Given the description of an element on the screen output the (x, y) to click on. 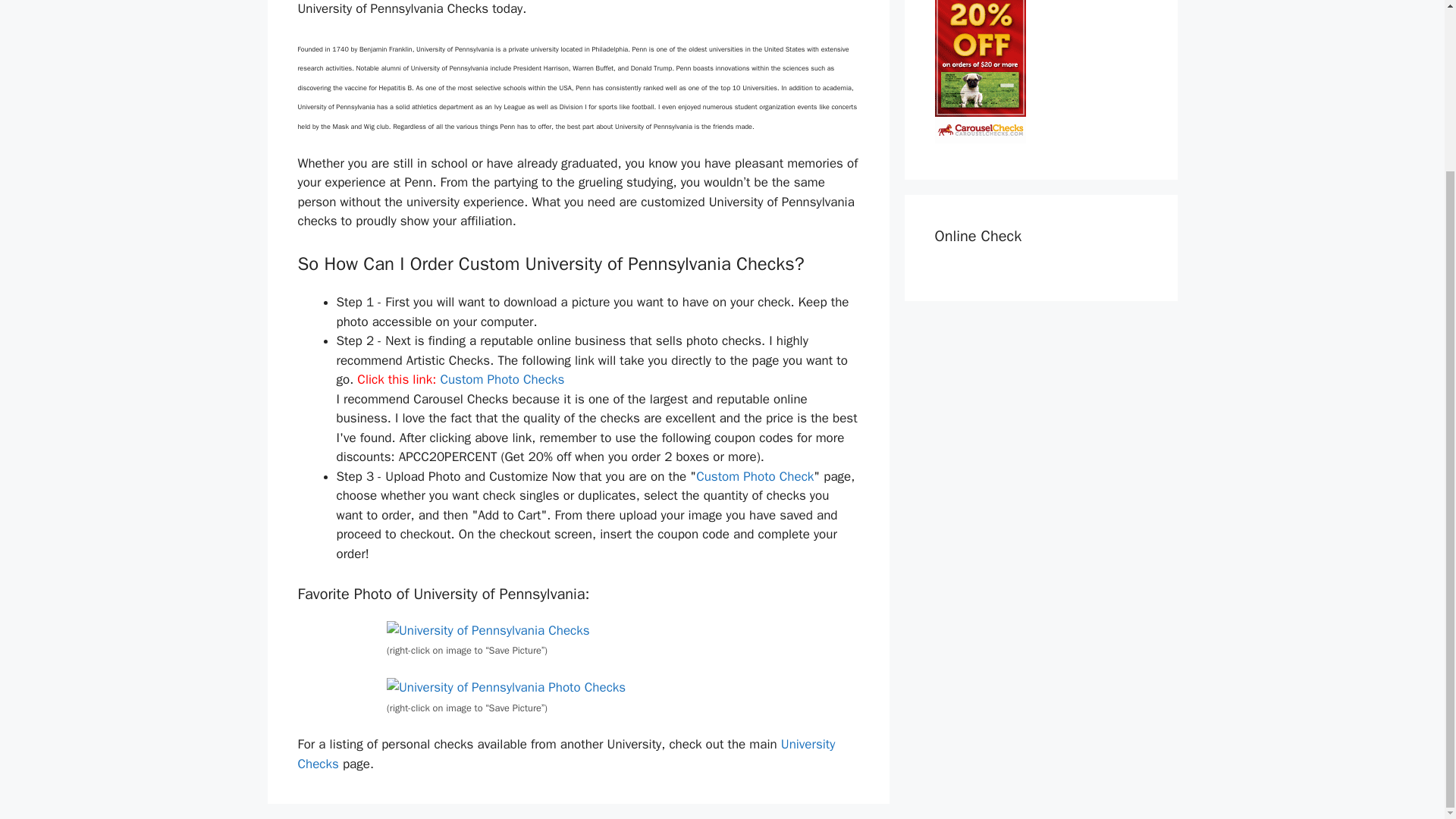
Custom Photo Checks (501, 379)
Online Custom Photo Checks (754, 476)
University of Pennsylvania Checks (488, 630)
University Checks (565, 754)
Custom Photo Check (754, 476)
University of Pennsylvania Checks (506, 687)
Online Custom Photo Checks (501, 379)
